Given the description of an element on the screen output the (x, y) to click on. 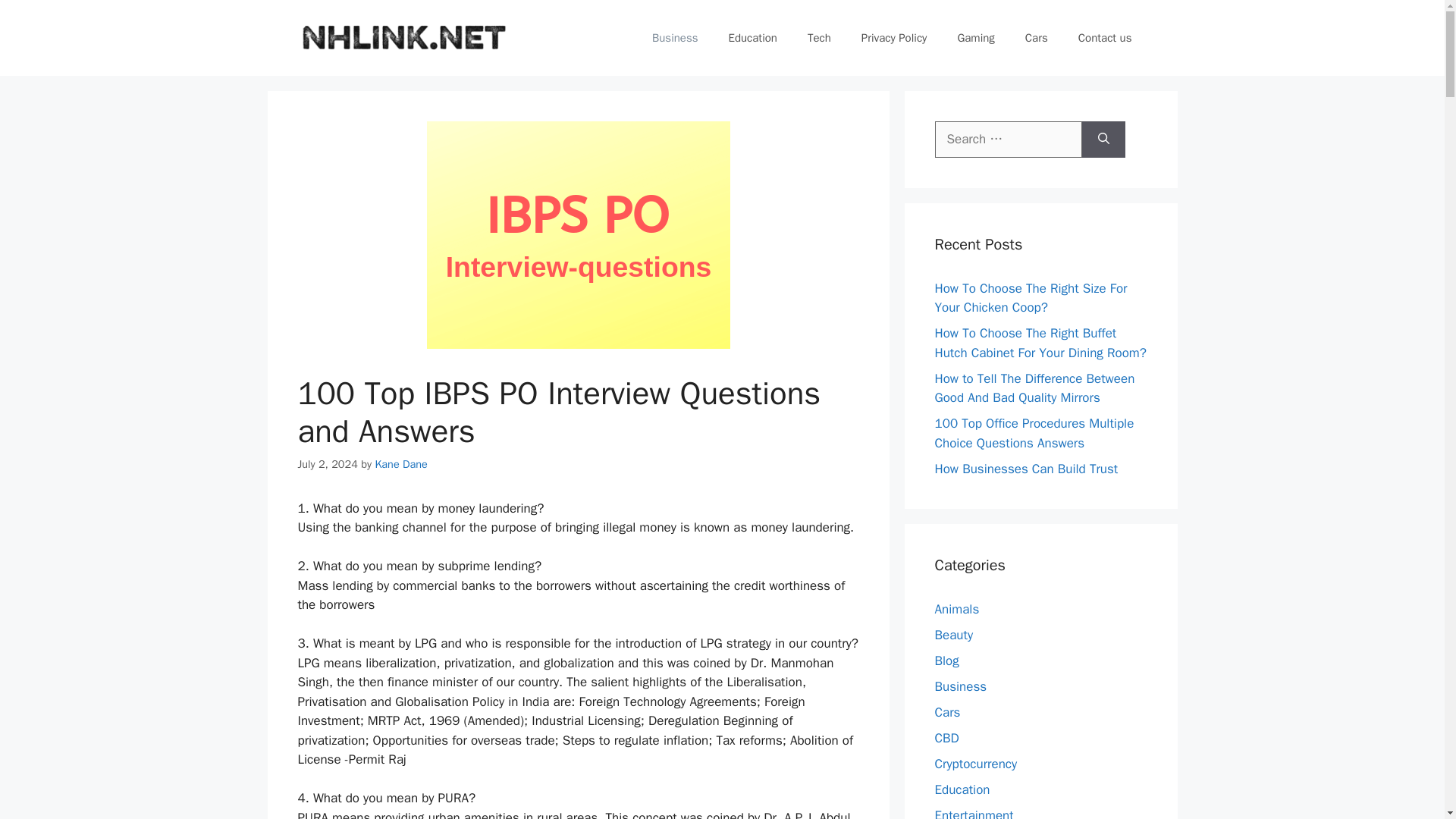
Animals (956, 609)
CBD (946, 738)
Kane Dane (400, 463)
Business (675, 37)
Education (962, 789)
How Businesses Can Build Trust (1026, 468)
Cryptocurrency (975, 763)
100 Top Office Procedures Multiple Choice Questions Answers (1034, 433)
How To Choose The Right Size For Your Chicken Coop? (1030, 298)
Entertainment (973, 813)
